Given the description of an element on the screen output the (x, y) to click on. 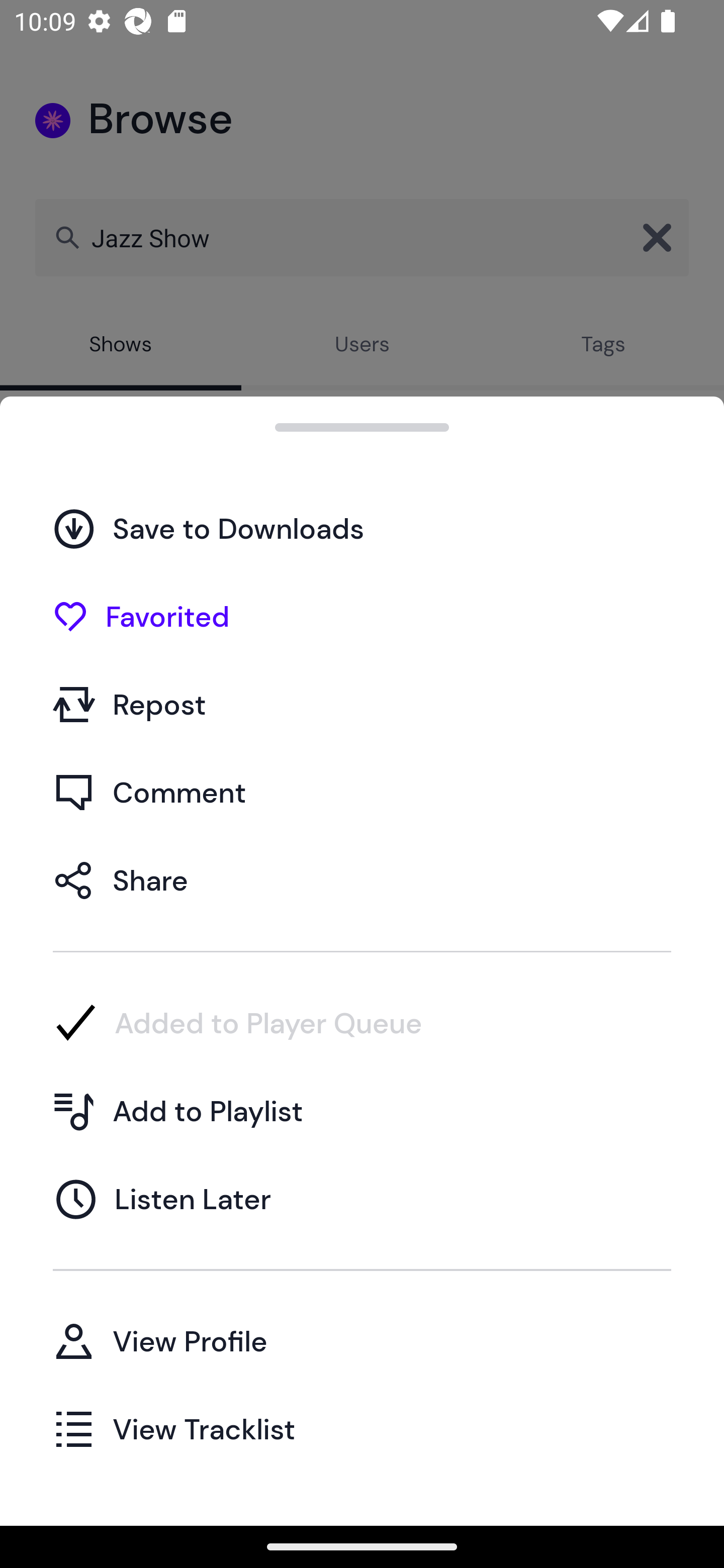
Save to Downloads (361, 528)
Favorited (361, 616)
Repost (361, 703)
Comment (361, 791)
Share (361, 879)
Add to Playlist (361, 1110)
Listen Later (361, 1199)
View Profile (361, 1340)
View Tracklist (361, 1428)
